Given the description of an element on the screen output the (x, y) to click on. 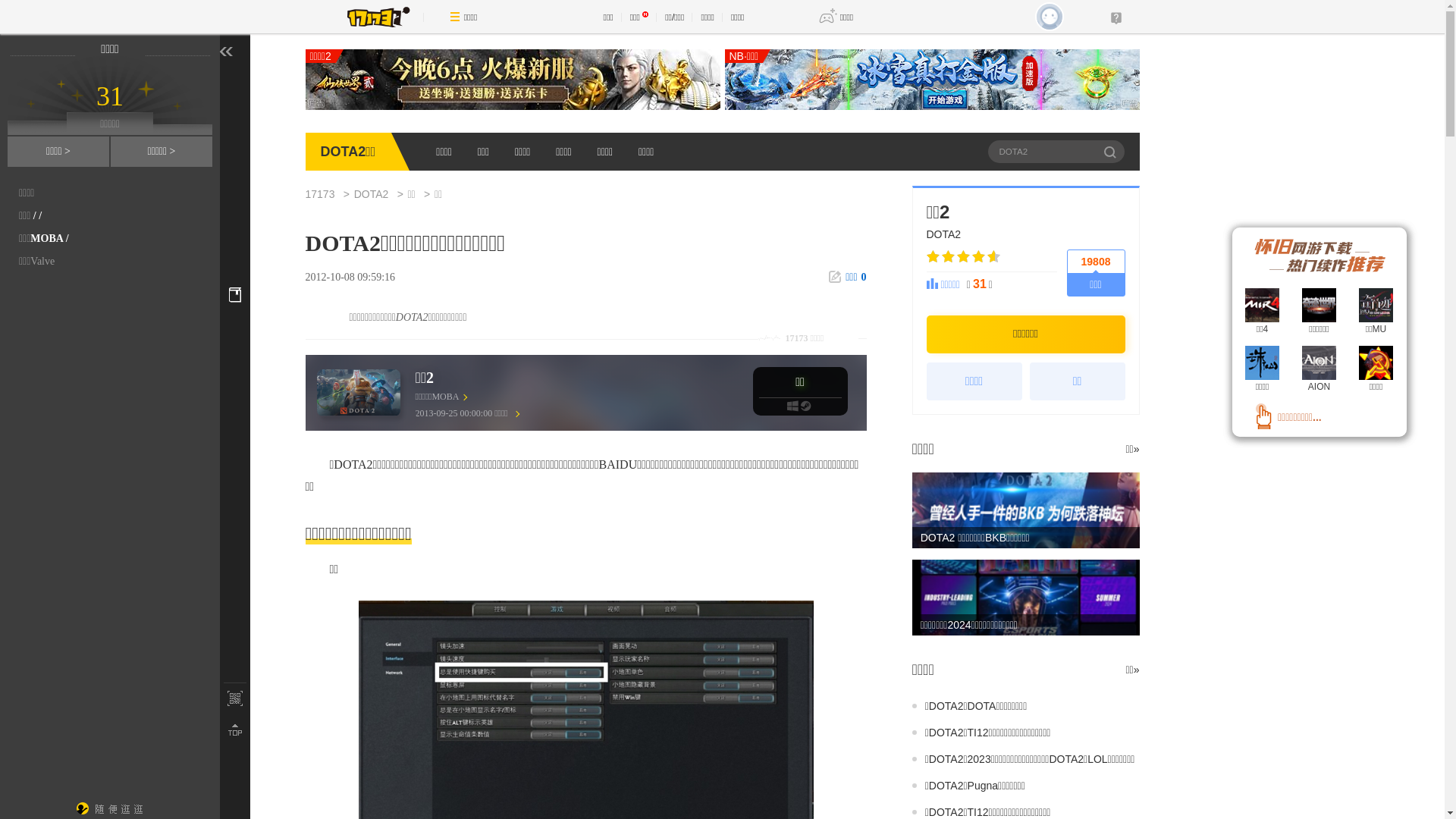
MOBA Element type: text (46, 238)
DOTA2 Element type: text (378, 193)
17173 Element type: text (326, 193)
